Given the description of an element on the screen output the (x, y) to click on. 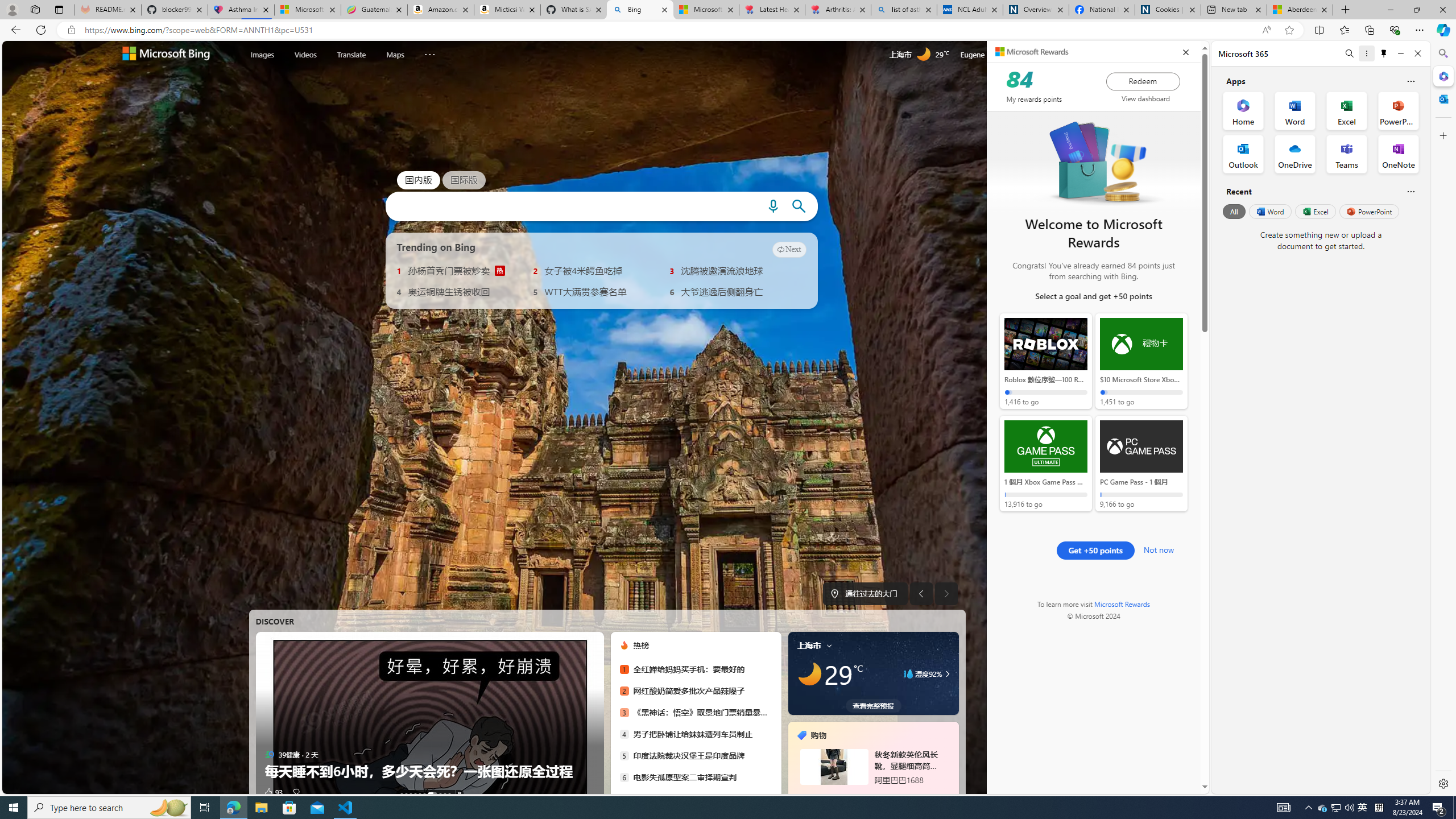
Home Office App (1243, 110)
Trending on Bing (436, 246)
Close Customize pane (1442, 135)
Maps (394, 53)
AutomationID: tab-0 (400, 793)
AutomationID: tab-4 (419, 793)
Redeem (1142, 81)
Microsoft Rewards (1122, 603)
